Given the description of an element on the screen output the (x, y) to click on. 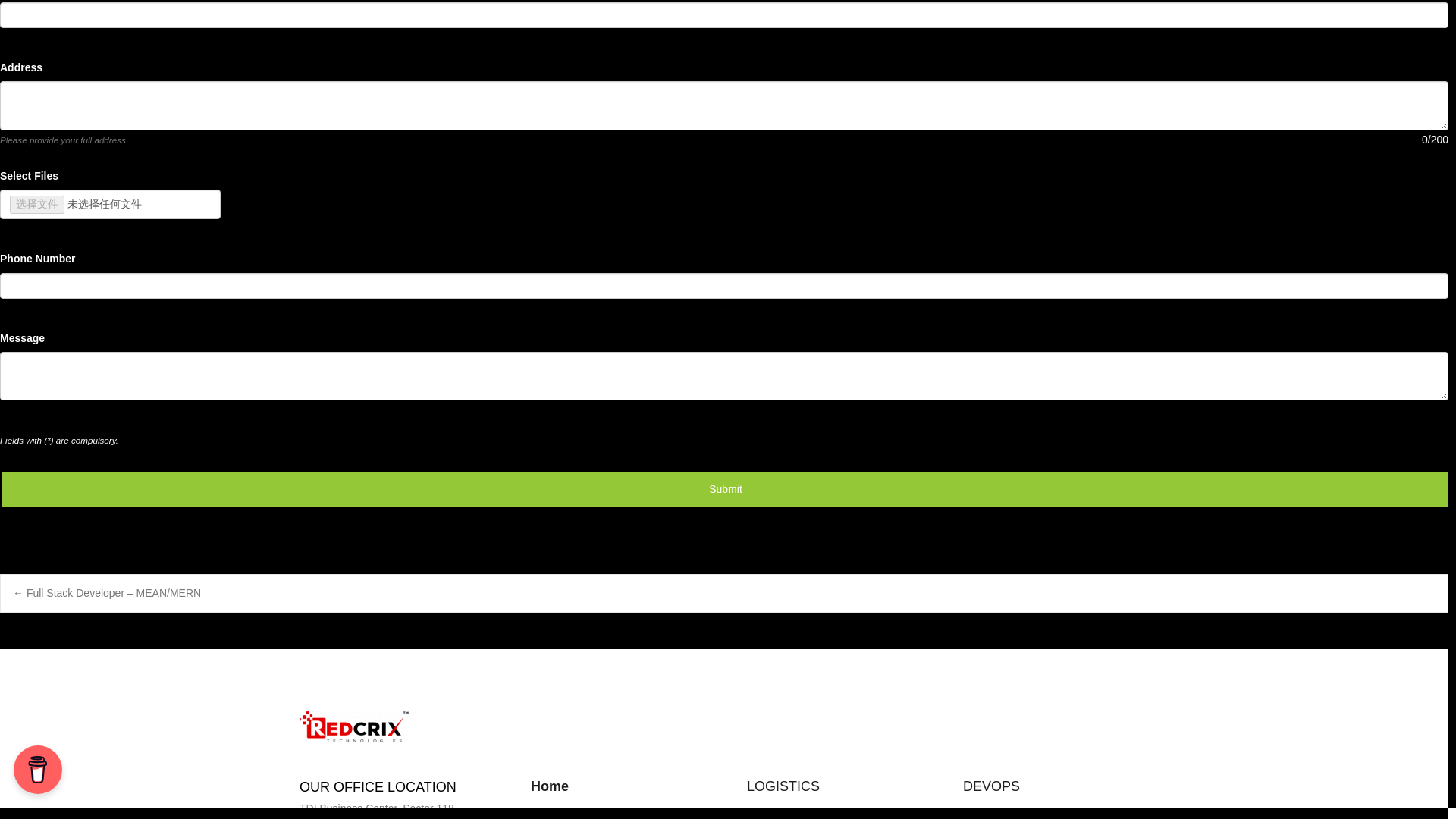
Group 38 (356, 726)
Submit (725, 488)
